Given the description of an element on the screen output the (x, y) to click on. 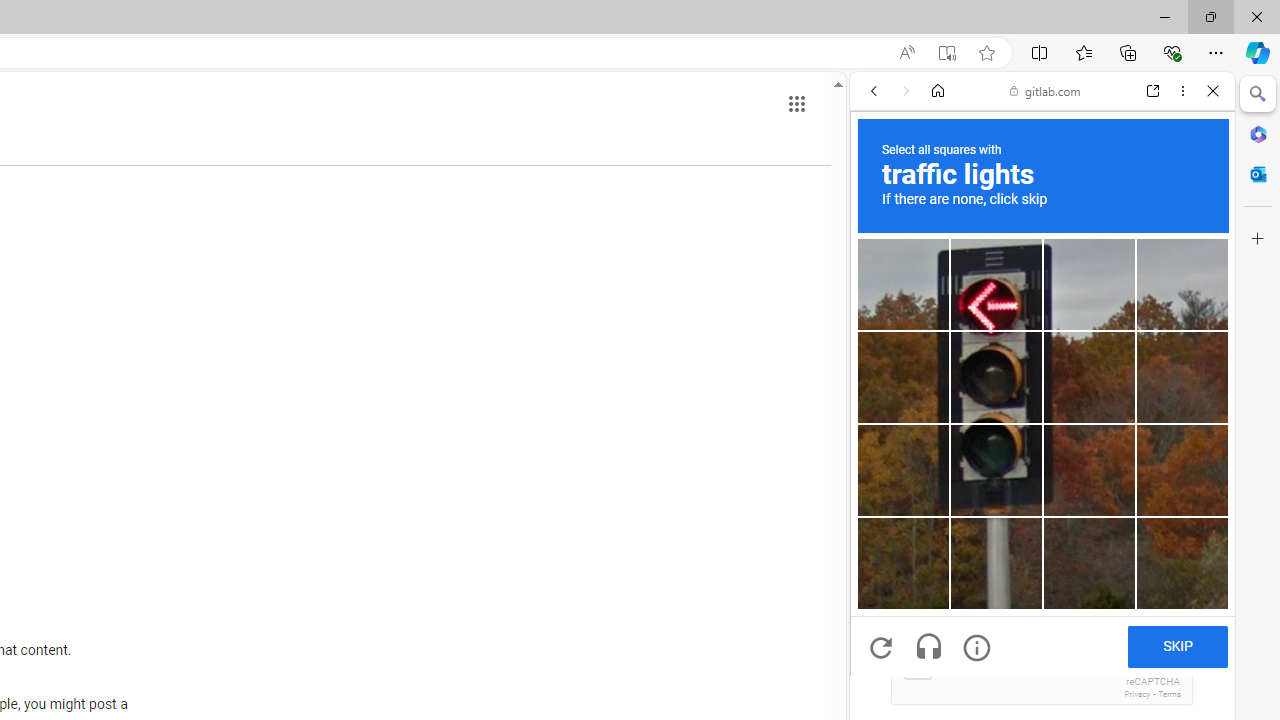
Emails (886, 603)
